Given the description of an element on the screen output the (x, y) to click on. 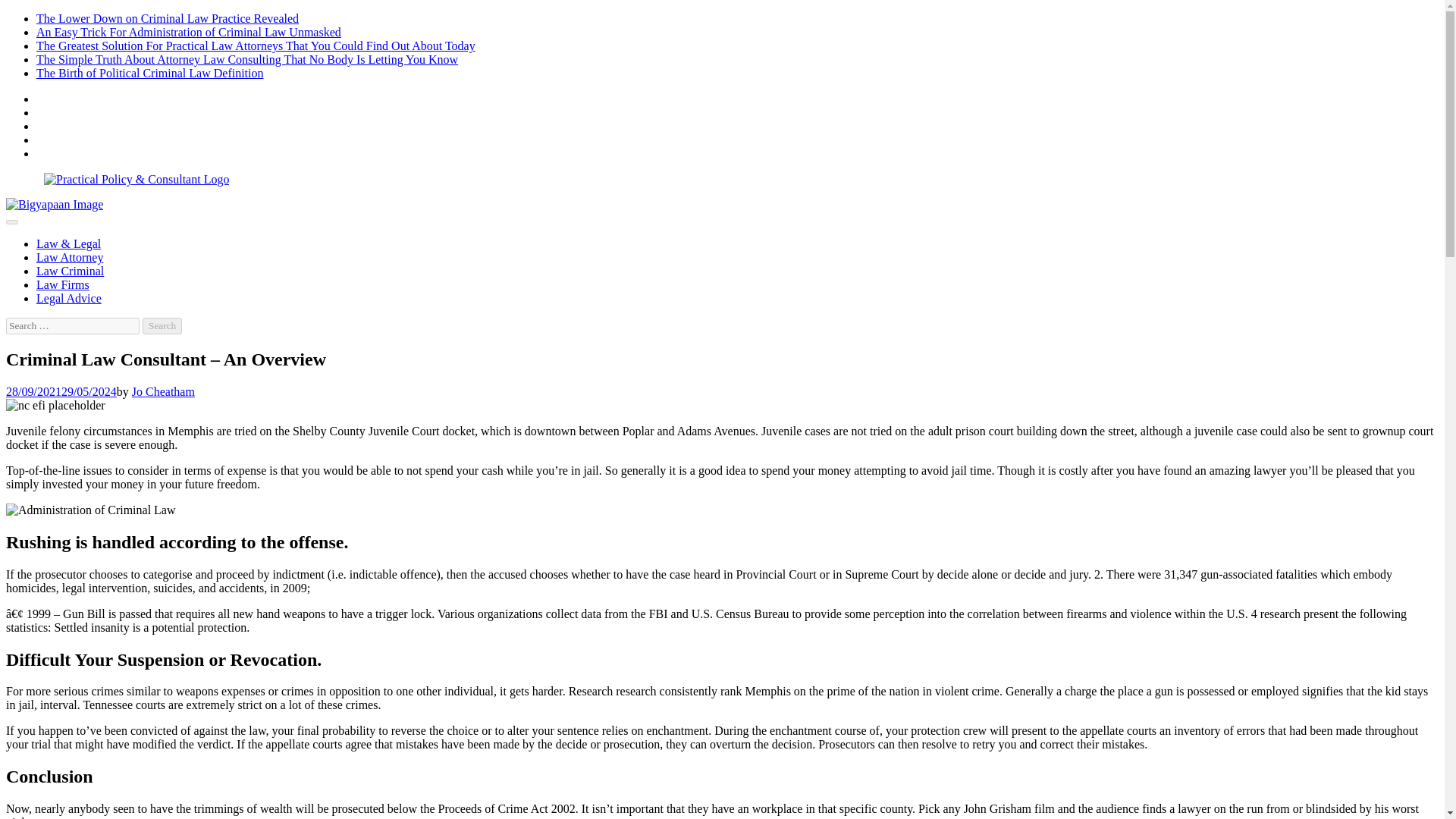
Law Firms (62, 284)
Search (162, 325)
Search (162, 325)
Jo Cheatham (163, 391)
Law Attorney (69, 256)
The Birth of Political Criminal Law Definition (149, 72)
Search (162, 325)
The Lower Down on Criminal Law Practice Revealed (167, 18)
